Given the description of an element on the screen output the (x, y) to click on. 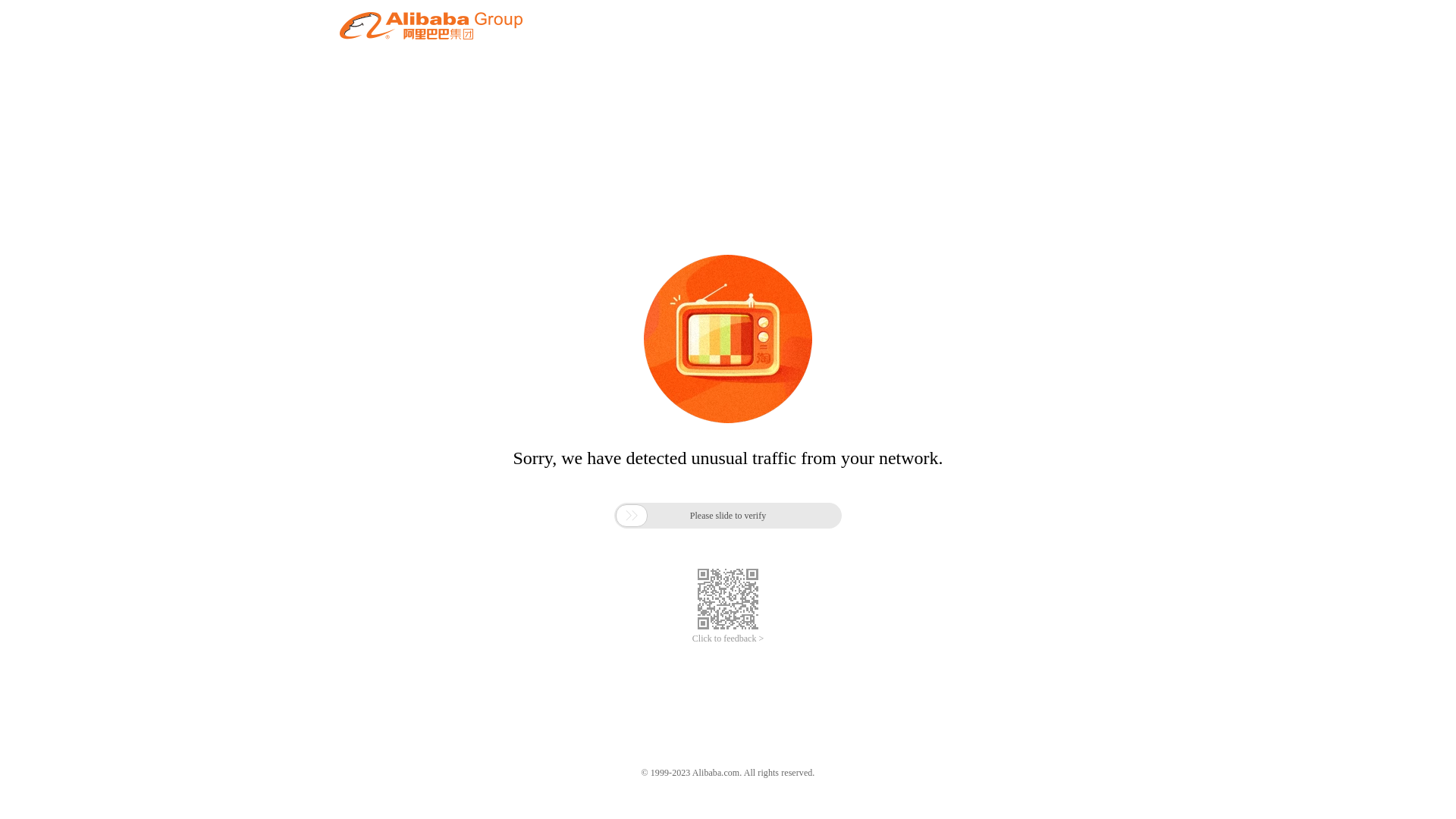
Click to feedback > Element type: text (727, 638)
